Given the description of an element on the screen output the (x, y) to click on. 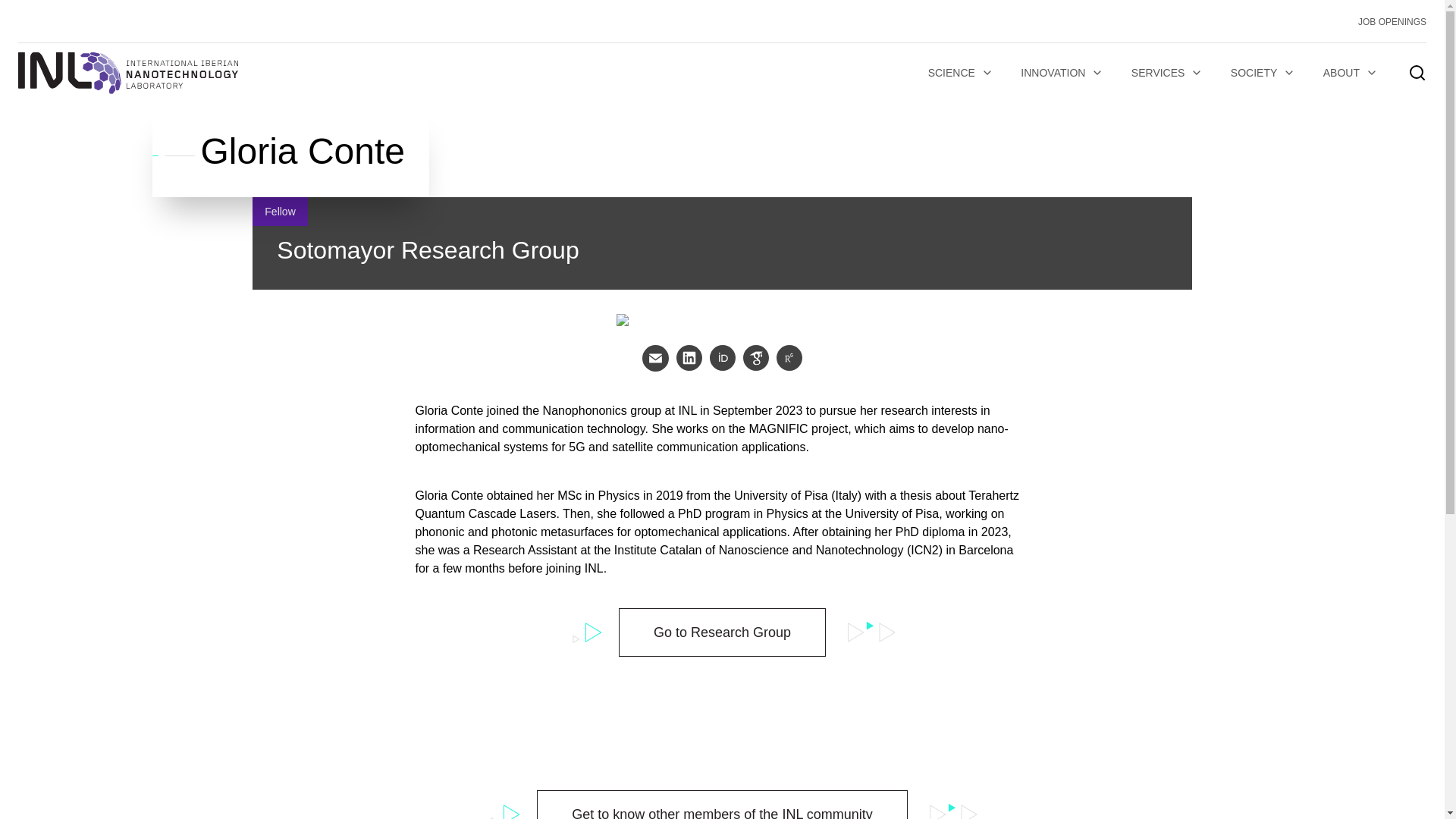
SCIENCE (960, 72)
Subscribe (331, 589)
Search (984, 433)
INL home (127, 73)
SERVICES (1167, 72)
SOCIETY (1262, 72)
INNOVATION (1062, 72)
ABOUT (1350, 72)
JOB OPENINGS (1392, 21)
